Given the description of an element on the screen output the (x, y) to click on. 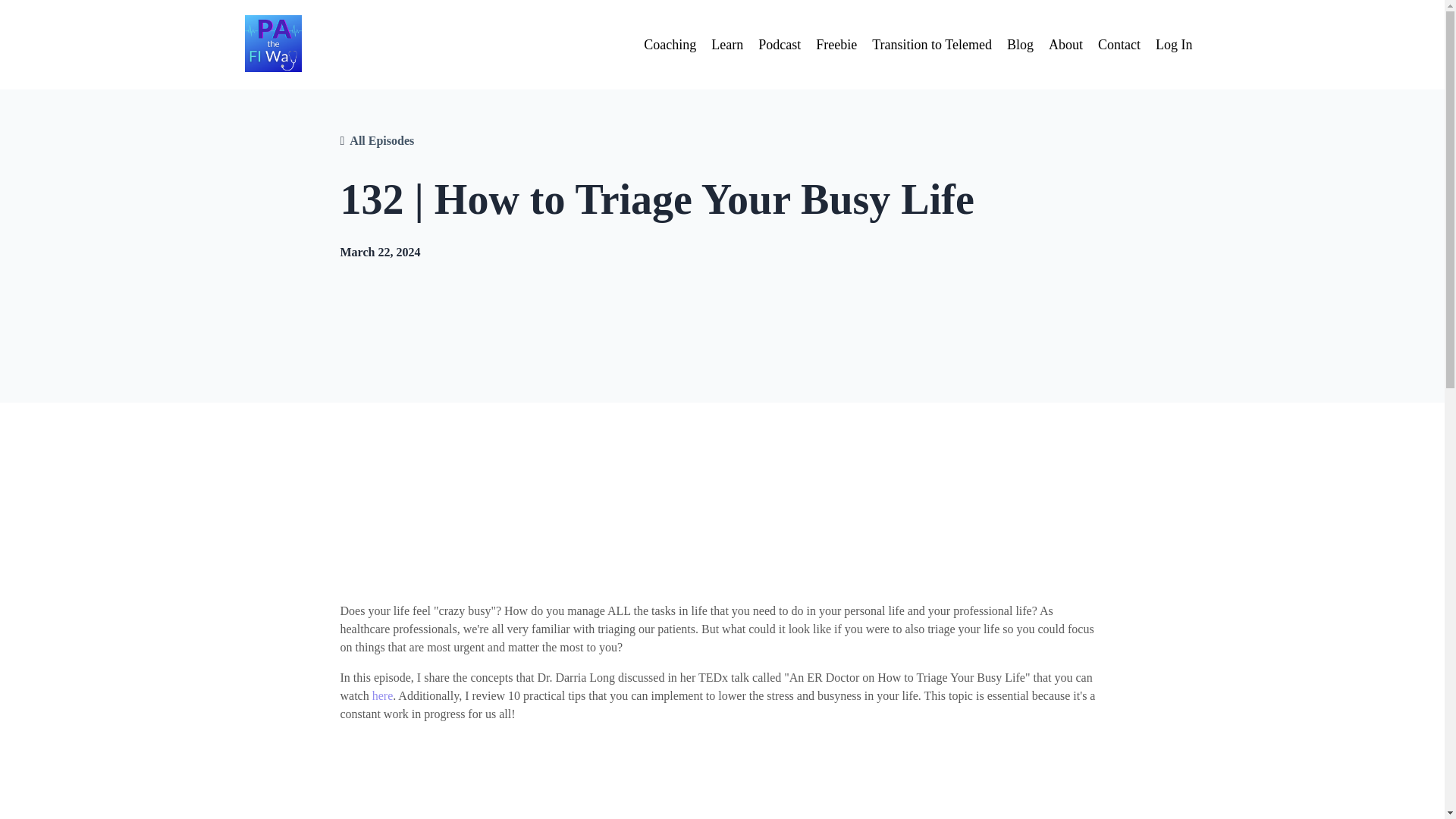
Podcast (779, 45)
All Episodes (381, 140)
Learn (726, 45)
Freebie (836, 45)
here (382, 695)
Transition to Telemed (931, 45)
Contact (1118, 45)
March 22, 2024 at 2:00pm CST (379, 251)
About (1065, 45)
Coaching (669, 45)
Blog (1020, 45)
Log In (1174, 44)
